Given the description of an element on the screen output the (x, y) to click on. 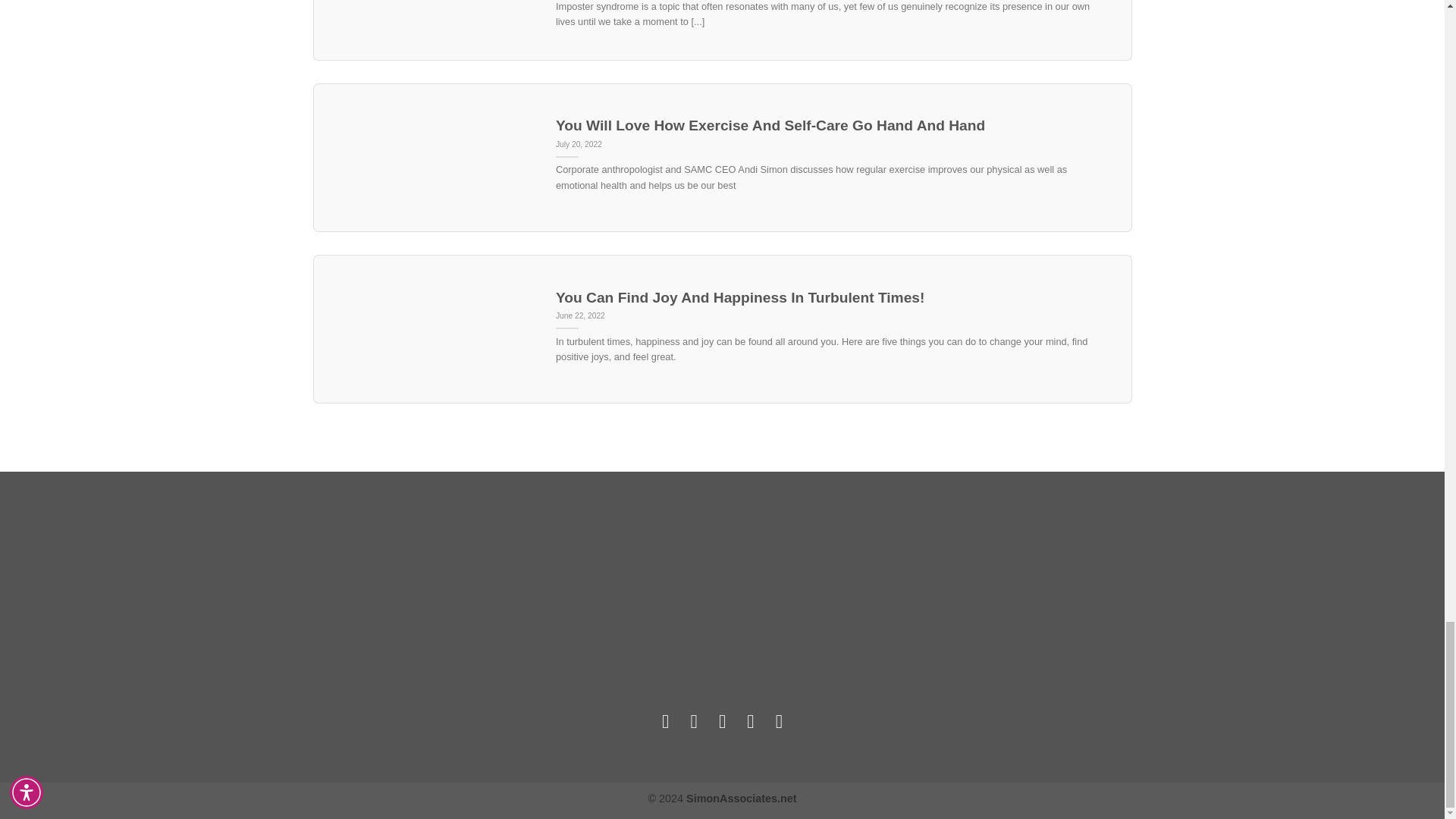
Follow on Instagram (693, 721)
Follow on Facebook (665, 721)
